Given the description of an element on the screen output the (x, y) to click on. 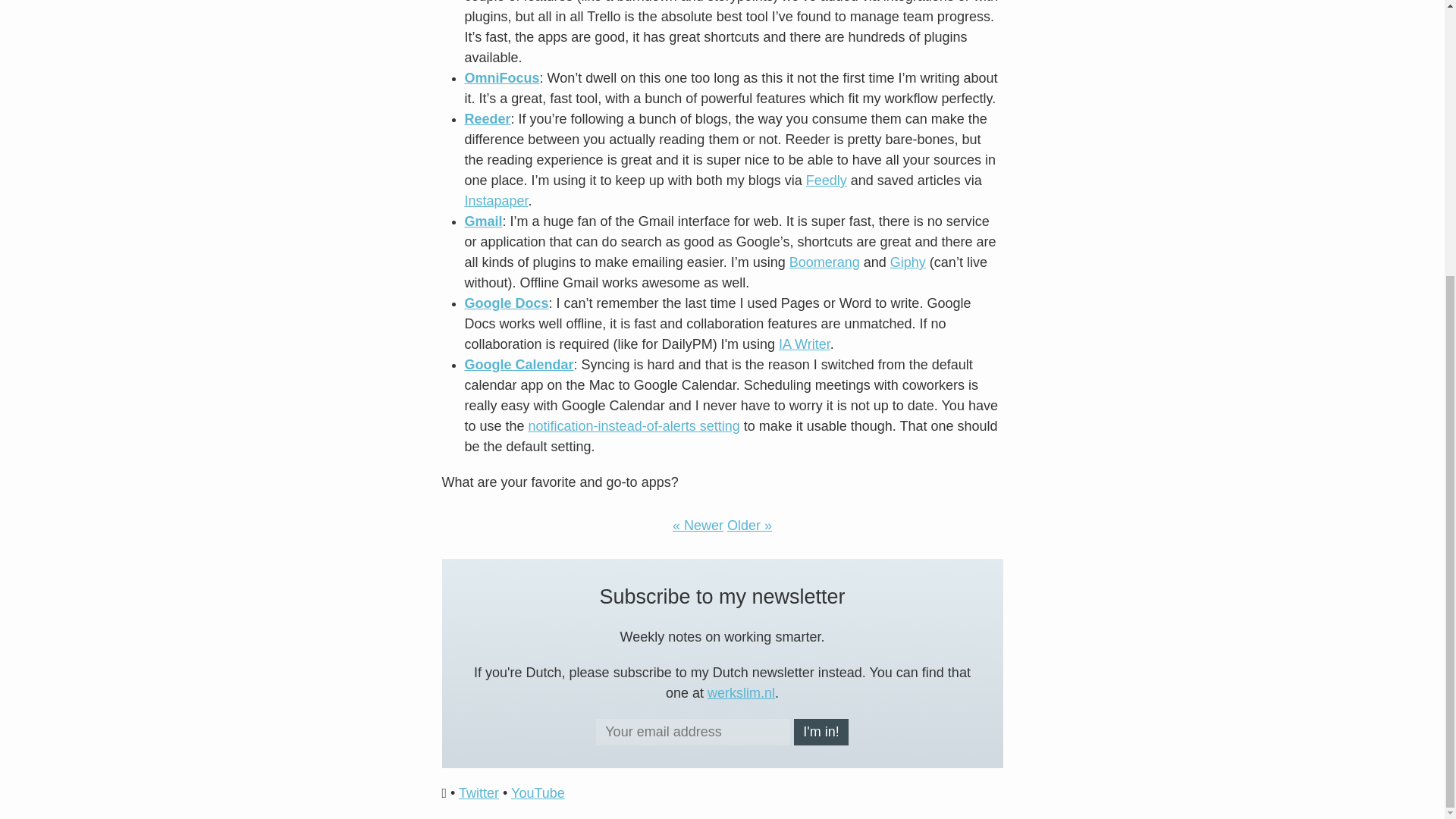
YouTube (537, 792)
Feedly (826, 180)
IA Writer (803, 344)
OmniFocus (501, 77)
Gmail (483, 221)
Giphy (907, 262)
Reeder (487, 118)
werkslim.nl (740, 693)
Instapaper (495, 200)
I'm in! (820, 732)
notification-instead-of-alerts setting (633, 426)
Google Calendar (518, 364)
Boomerang (824, 262)
Twitter (478, 792)
Google Docs (506, 303)
